Given the description of an element on the screen output the (x, y) to click on. 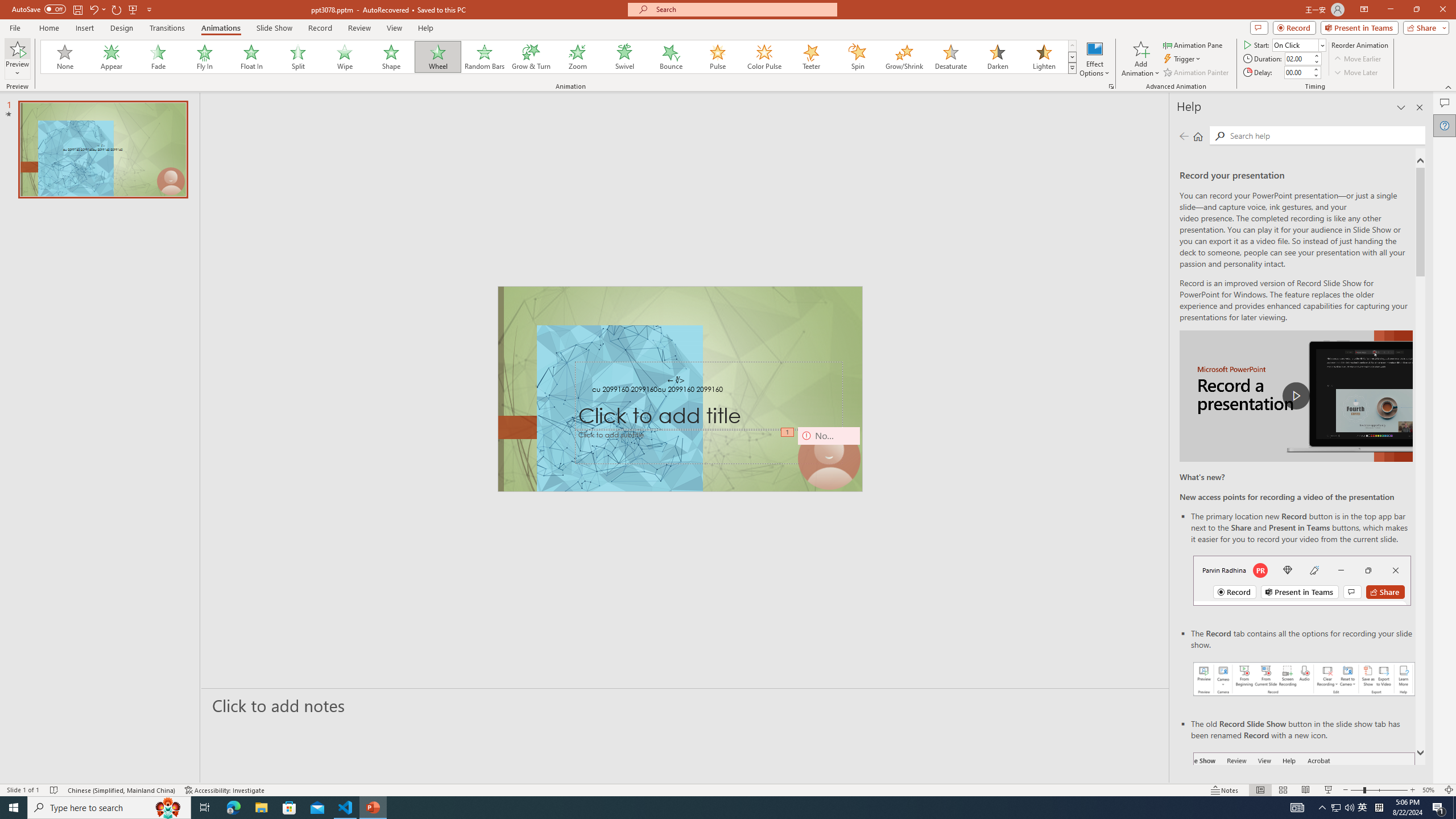
Appear (111, 56)
Animation Styles (1071, 67)
Lighten (1043, 56)
Move Earlier (1357, 58)
